Given the description of an element on the screen output the (x, y) to click on. 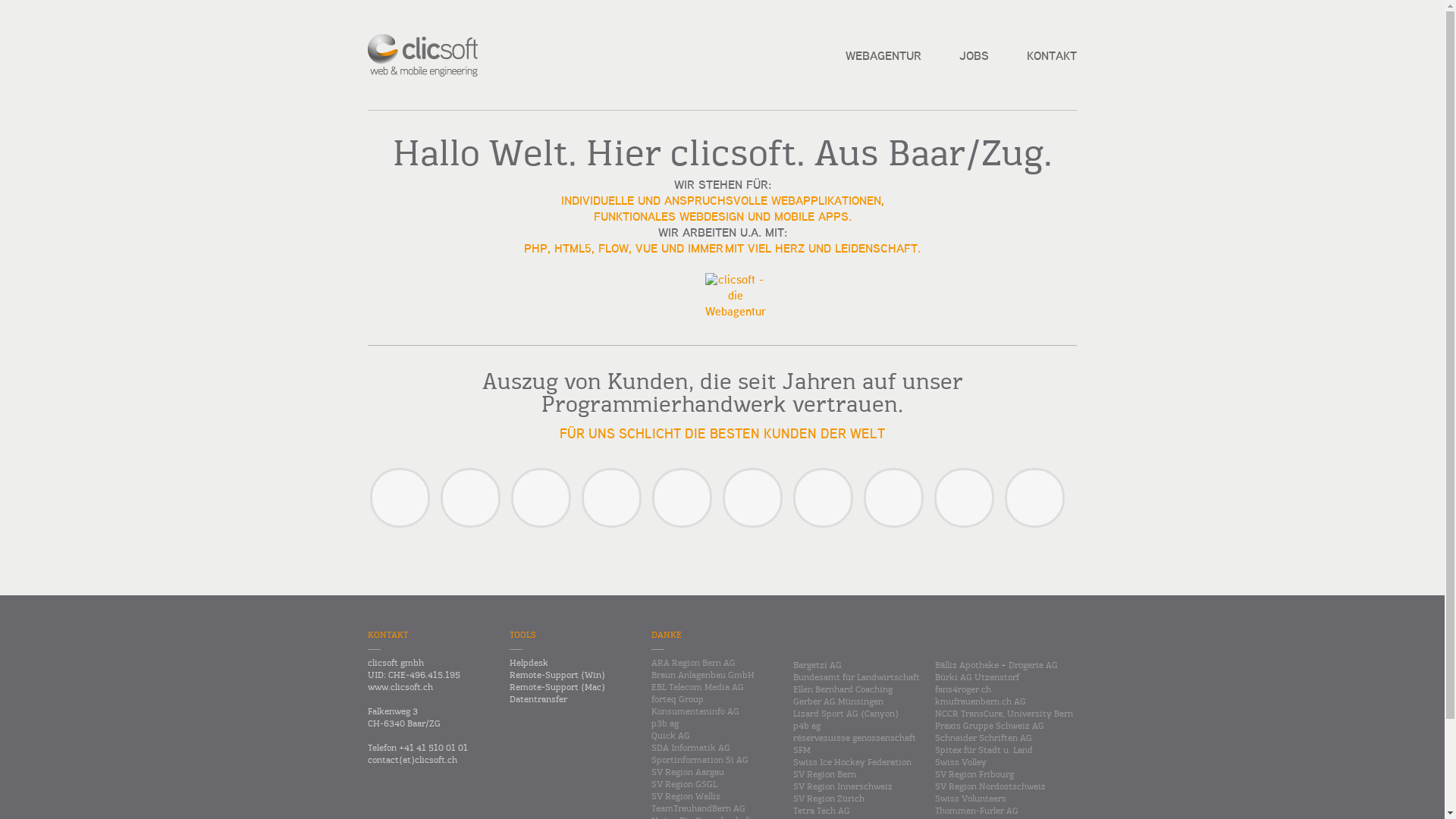
WEBAGENTUR Element type: text (883, 56)
Sportinformation Si AG Element type: hover (1033, 497)
Remote-Support (Mac) Element type: text (572, 687)
forteq Group Element type: hover (682, 497)
KONTAKT Element type: text (1051, 56)
SDA Informatik AG Element type: hover (610, 497)
contact(at)clicsoft.ch Element type: text (431, 760)
Remote-Support (Win) Element type: text (572, 675)
Helpdesk Element type: text (572, 663)
Swiss Volley Element type: hover (964, 497)
clicsoft - die Webagentur Element type: hover (735, 312)
Datentransfer Element type: text (572, 699)
clicsoft - Web & Mobile Engineering Element type: hover (422, 55)
Canyon - Swiss Sports Bicycles Element type: hover (399, 497)
JOBS Element type: text (973, 56)
www.clicsoft.ch Element type: text (431, 687)
Swiss Ice Hockey Element type: hover (541, 497)
ara region bern ag Element type: hover (892, 497)
